Given the description of an element on the screen output the (x, y) to click on. 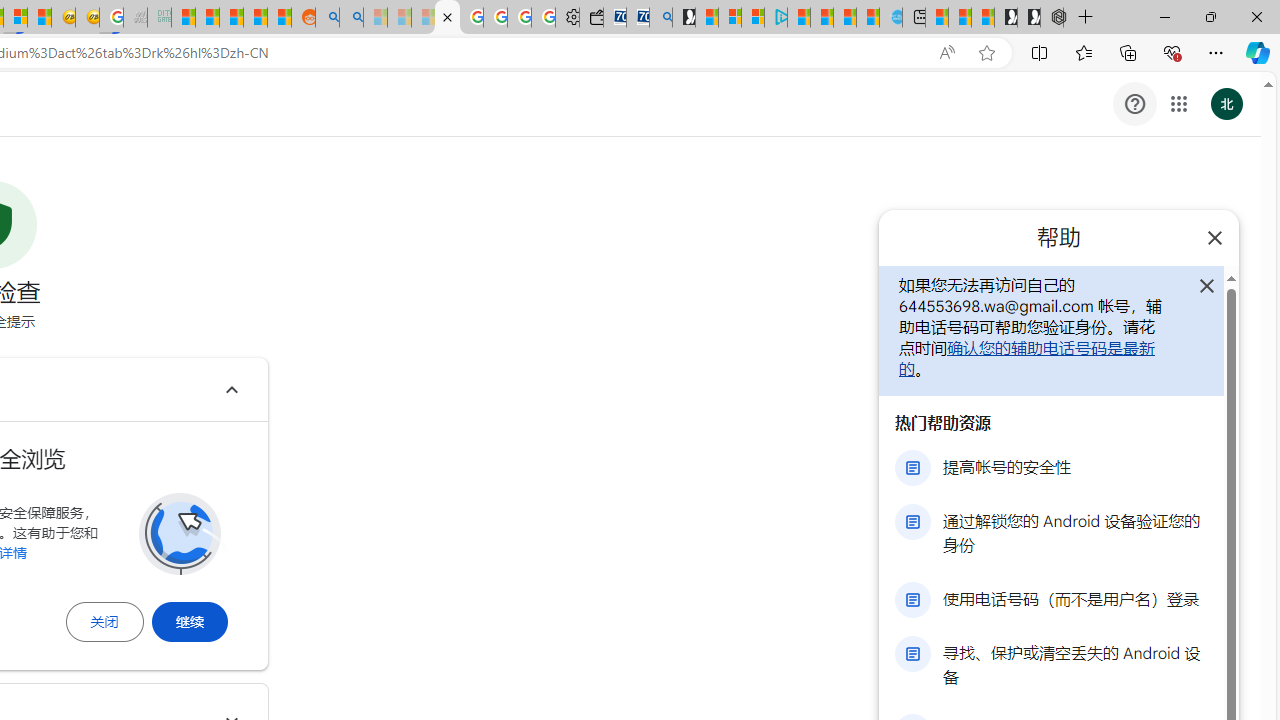
Microsoft Start - Sleeping (374, 17)
Nordace - Nordace Siena Is Not An Ordinary Backpack (1051, 17)
